Given the description of an element on the screen output the (x, y) to click on. 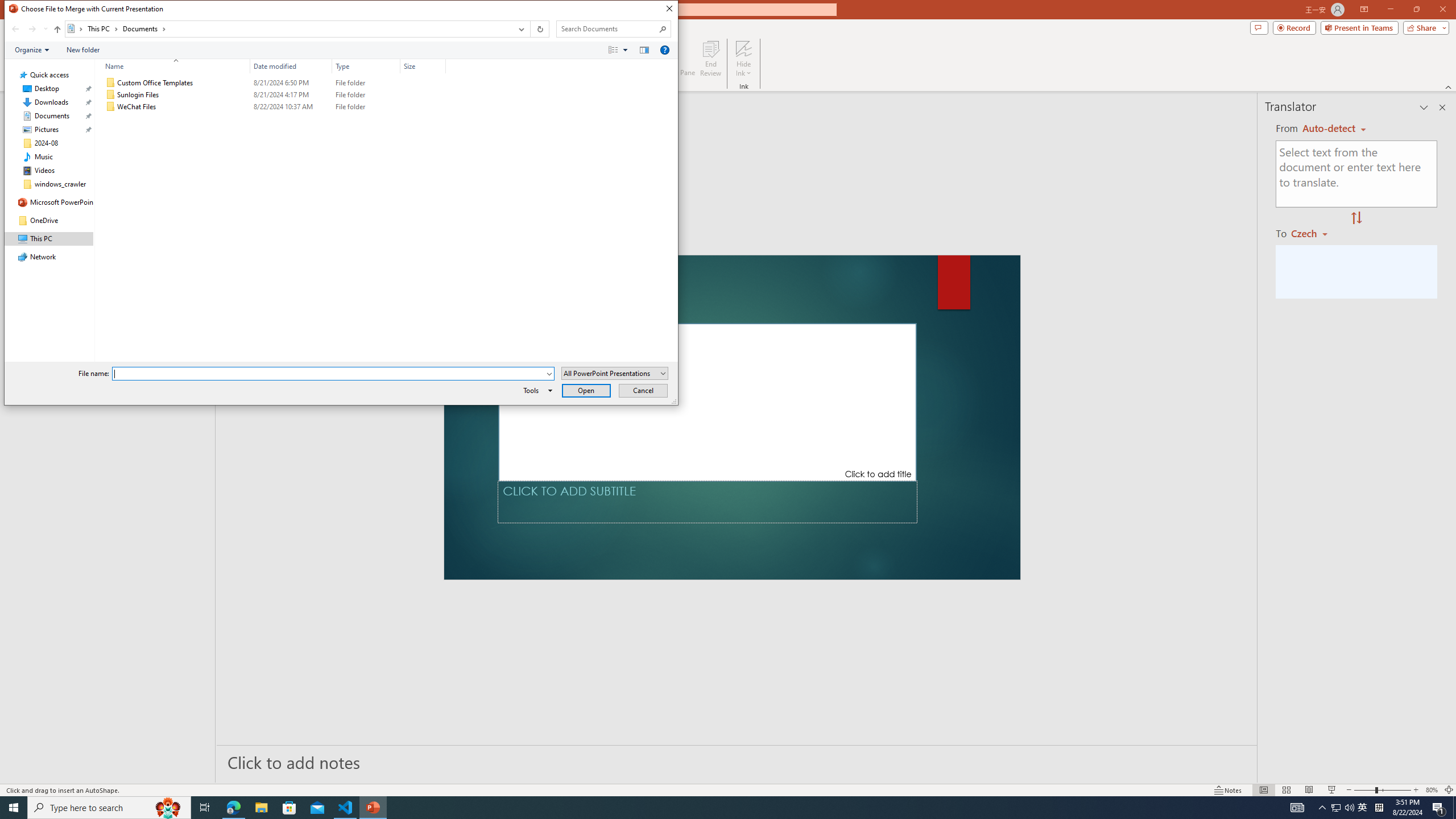
Navigation buttons (28, 28)
Date modified (290, 106)
Command Module (341, 49)
WeChat Files (273, 106)
Address band toolbar (529, 28)
Preview pane (644, 49)
Size (422, 106)
